Given the description of an element on the screen output the (x, y) to click on. 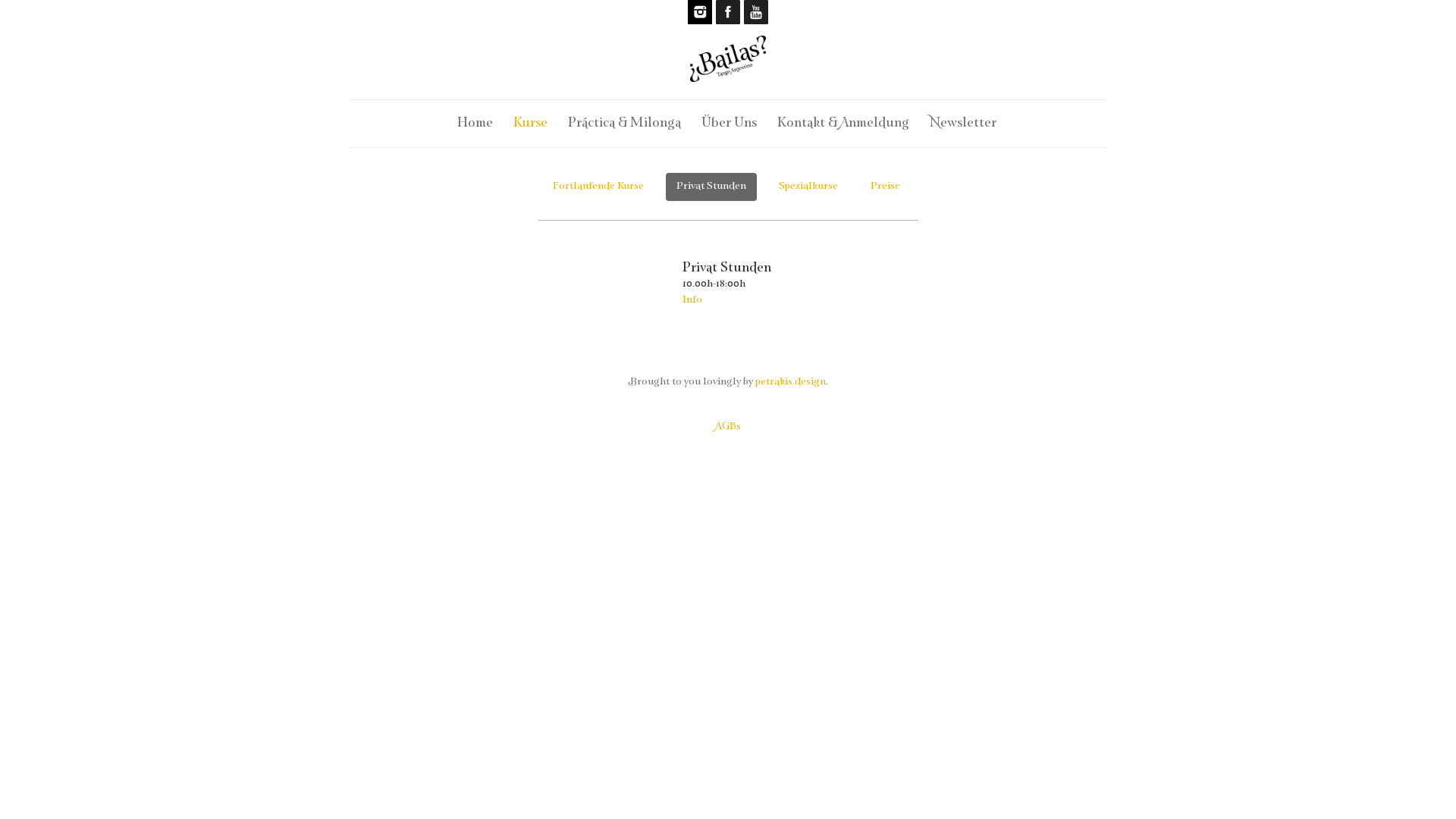
AGBs Element type: text (727, 424)
Info Element type: text (692, 298)
Preise Element type: text (884, 186)
Youtube Element type: hover (755, 12)
Kurse Element type: text (530, 121)
Spezialkurse Element type: text (807, 186)
Privat Stunden
(aktiver Reiter) Element type: text (710, 186)
Startseite Element type: hover (727, 77)
Fortlaufende Kurse Element type: text (597, 186)
Kontakt & Anmeldung Element type: text (843, 121)
Facebook Element type: hover (728, 12)
petrakis.design Element type: text (790, 380)
Home Element type: text (475, 121)
Instagram Element type: hover (699, 12)
Newsletter Element type: text (962, 121)
